Given the description of an element on the screen output the (x, y) to click on. 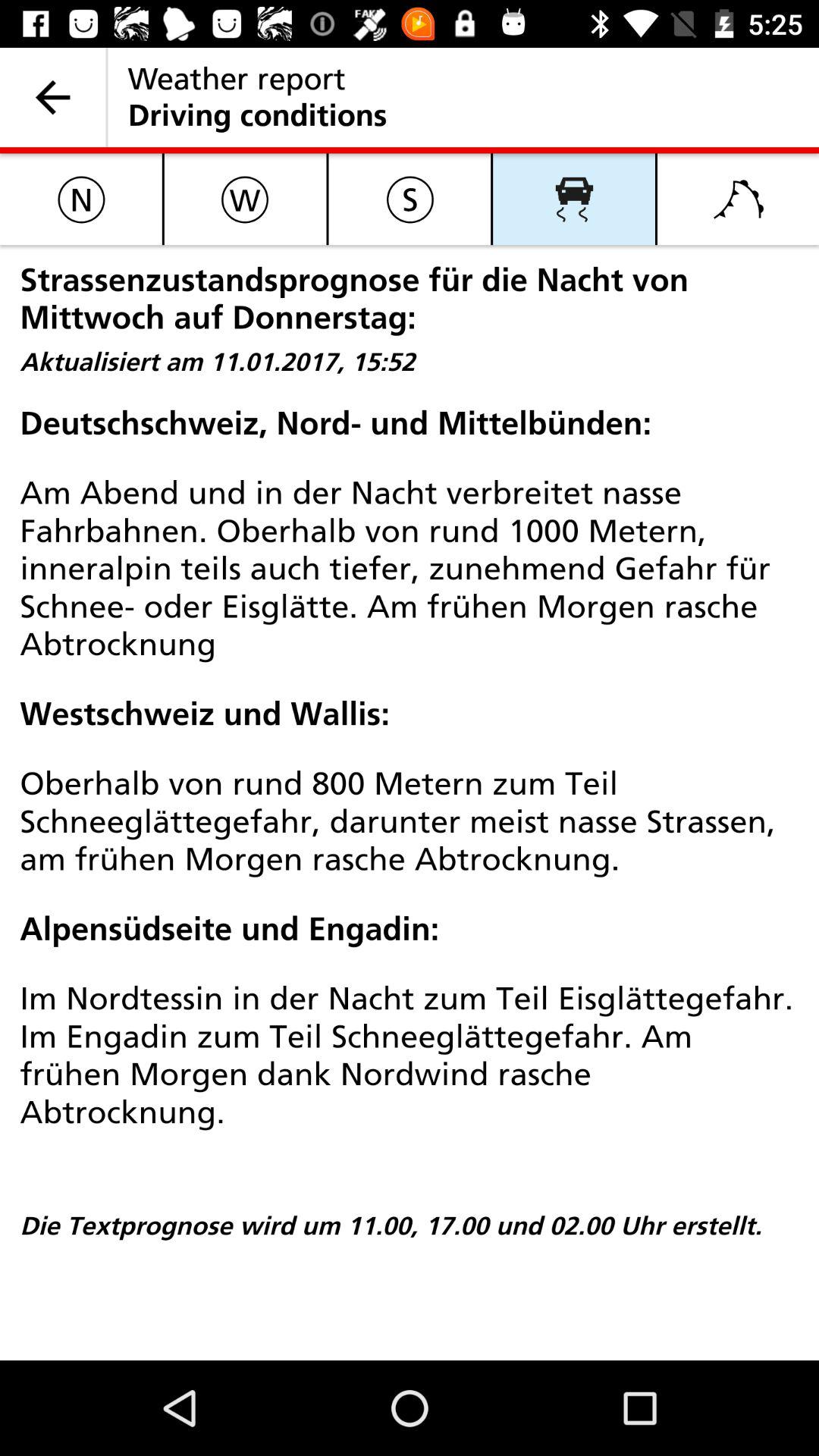
press icon to the left of weather report (52, 97)
